Given the description of an element on the screen output the (x, y) to click on. 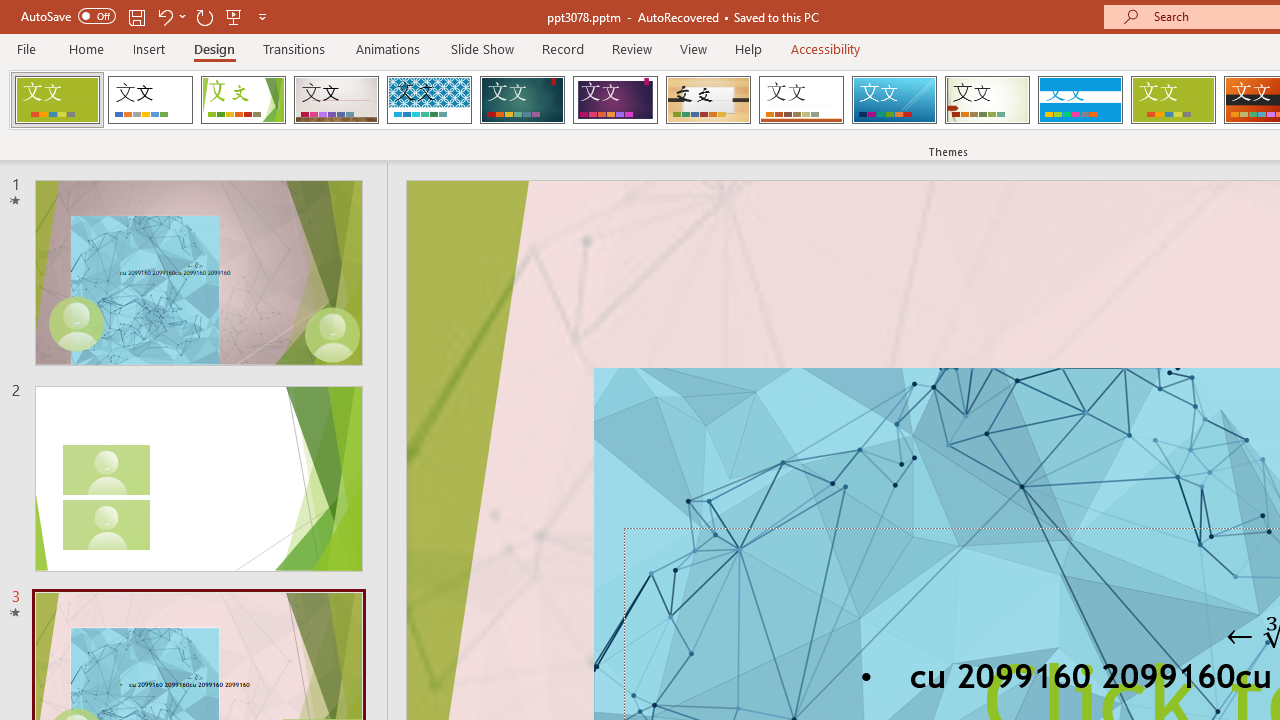
Ion (522, 100)
Ion Boardroom (615, 100)
Basis (1172, 100)
Integral (429, 100)
Gallery (336, 100)
Retrospect (801, 100)
Wisp (987, 100)
